Given the description of an element on the screen output the (x, y) to click on. 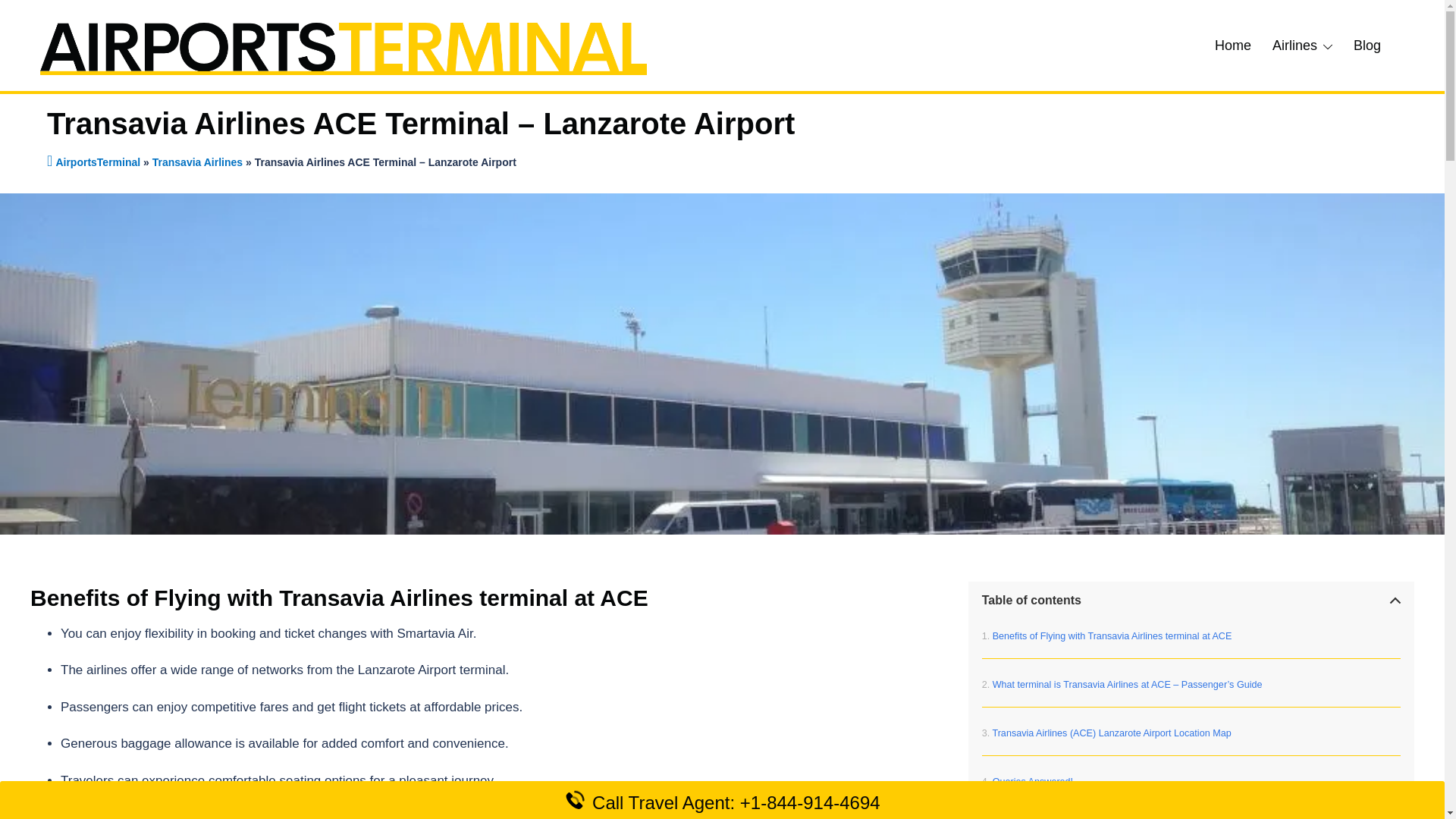
airportsterminal.com (343, 43)
Benefits of Flying with Transavia Airlines terminal at ACE (1106, 635)
Home (1232, 45)
Queries Answered! (1027, 781)
Blog (1367, 45)
Airlines (1294, 45)
